Given the description of an element on the screen output the (x, y) to click on. 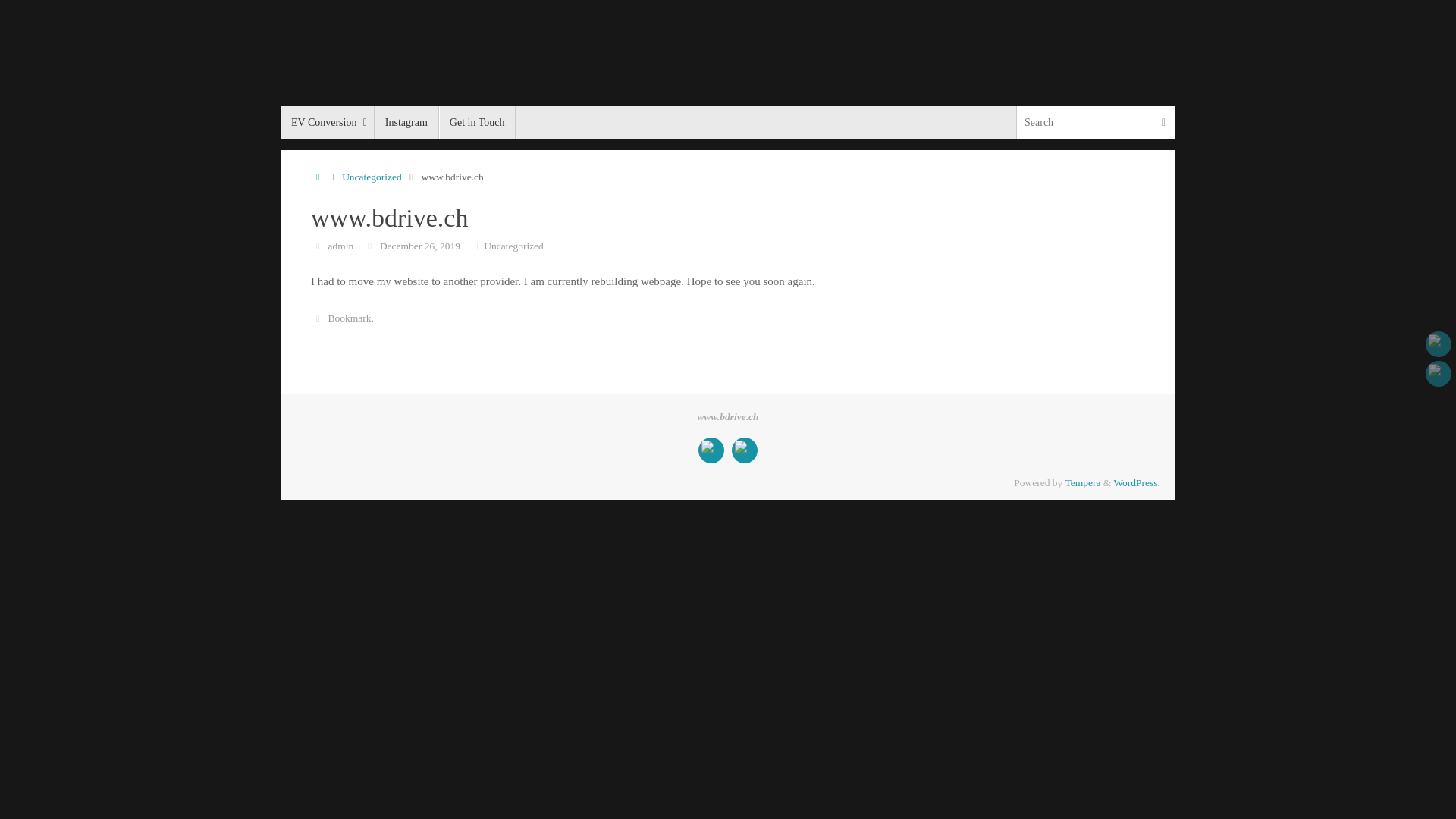
Categories Element type: hover (476, 245)
 Bookmark the permalink Element type: hover (317, 317)
Instagram Element type: text (406, 122)
Home Element type: text (317, 176)
WordPress. Element type: text (1136, 482)
Instagram Element type: hover (744, 450)
Author  Element type: hover (317, 245)
Uncategorized Element type: text (371, 176)
Skip to content Element type: text (279, 129)
LinkedIn Element type: hover (1438, 344)
LinkedIn Element type: hover (711, 450)
Search Element type: text (1163, 122)
Uncategorized Element type: text (513, 245)
Get in Touch Element type: text (477, 122)
Bookmark Element type: text (349, 317)
admin Element type: text (341, 245)
Instagram Element type: hover (1438, 373)
Tempera Element type: text (1082, 482)
December 26, 2019 Element type: text (419, 245)
Date Element type: hover (369, 245)
EV Conversion Element type: text (327, 122)
